Given the description of an element on the screen output the (x, y) to click on. 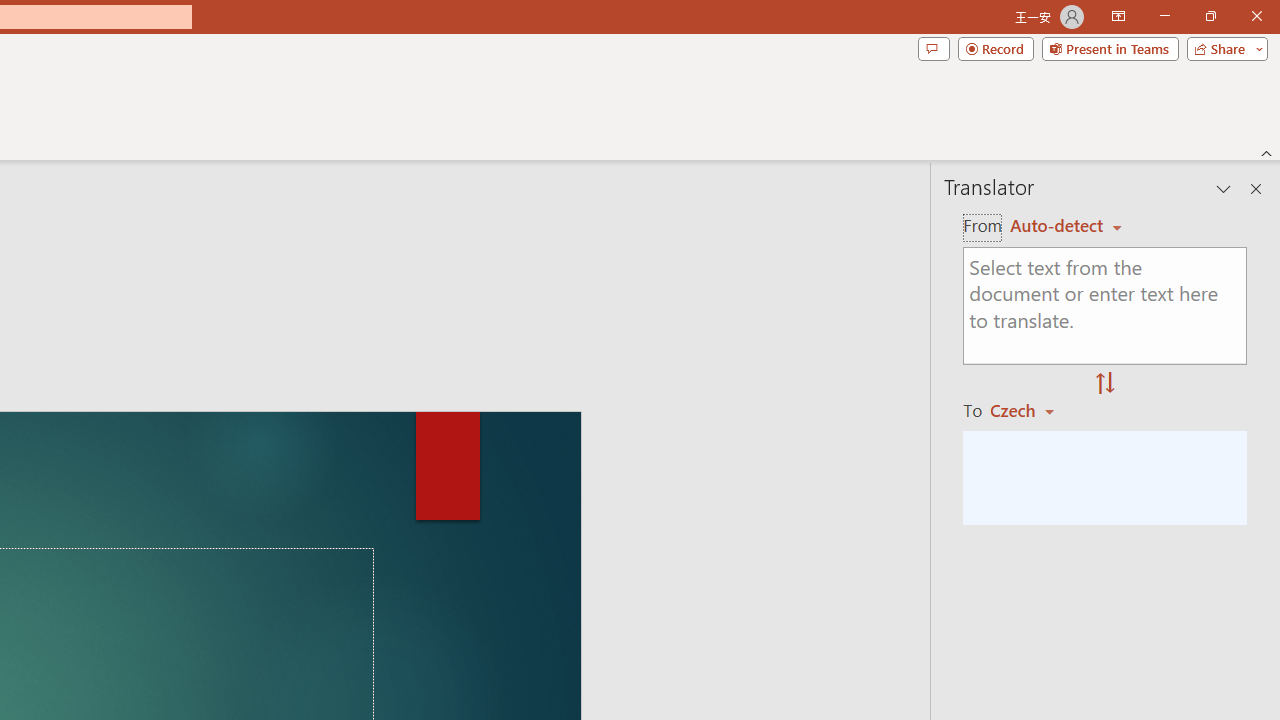
Auto-detect (1066, 225)
Swap "from" and "to" languages. (1105, 383)
Czech (1030, 409)
